Given the description of an element on the screen output the (x, y) to click on. 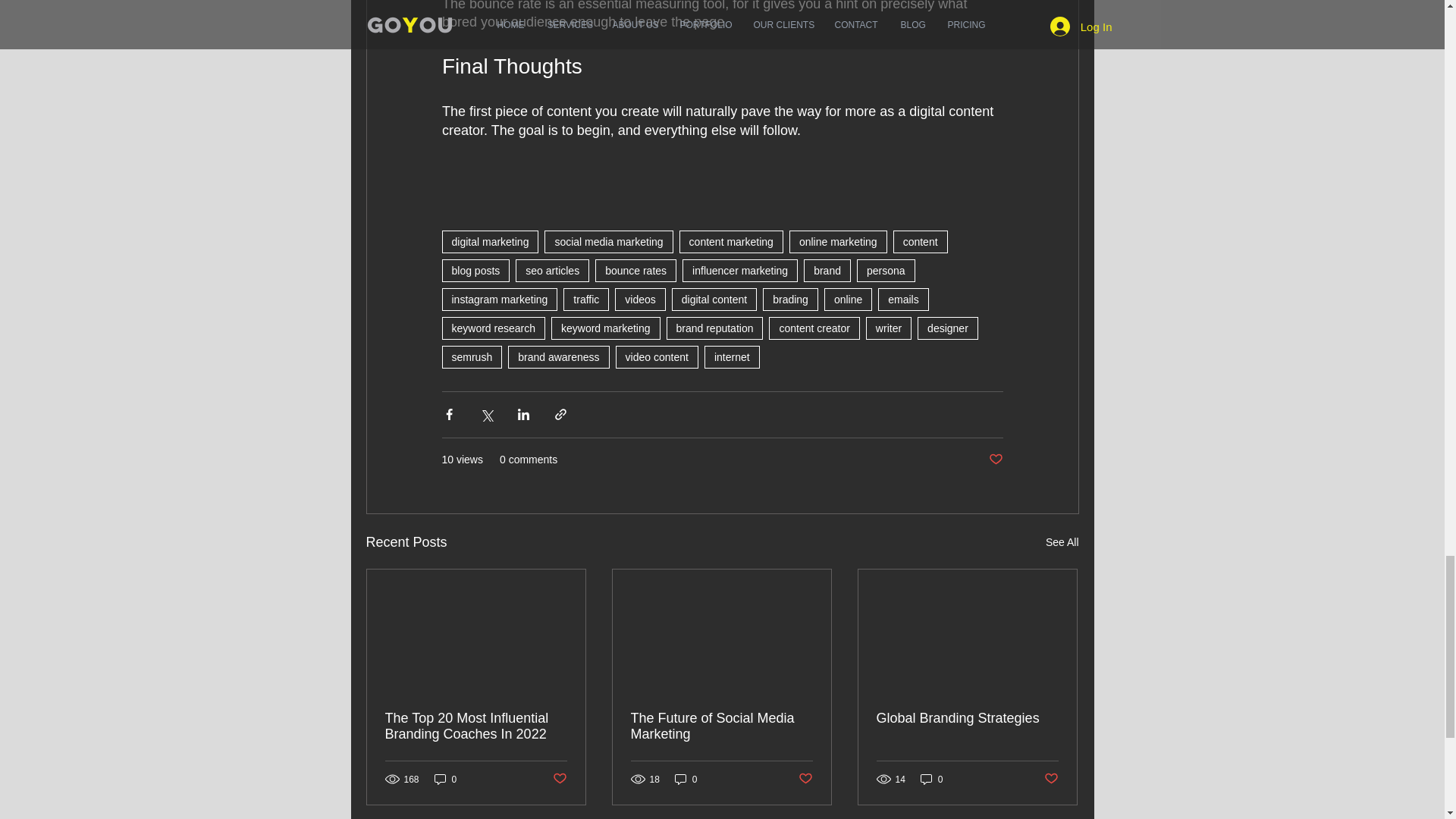
influencer marketing (739, 270)
content (920, 241)
traffic (585, 299)
digital content (714, 299)
seo articles (552, 270)
videos (639, 299)
blog posts (475, 270)
instagram marketing (499, 299)
persona (886, 270)
digital marketing (489, 241)
online marketing (837, 241)
bounce rates (636, 270)
content marketing (731, 241)
social media marketing (608, 241)
brand (826, 270)
